Given the description of an element on the screen output the (x, y) to click on. 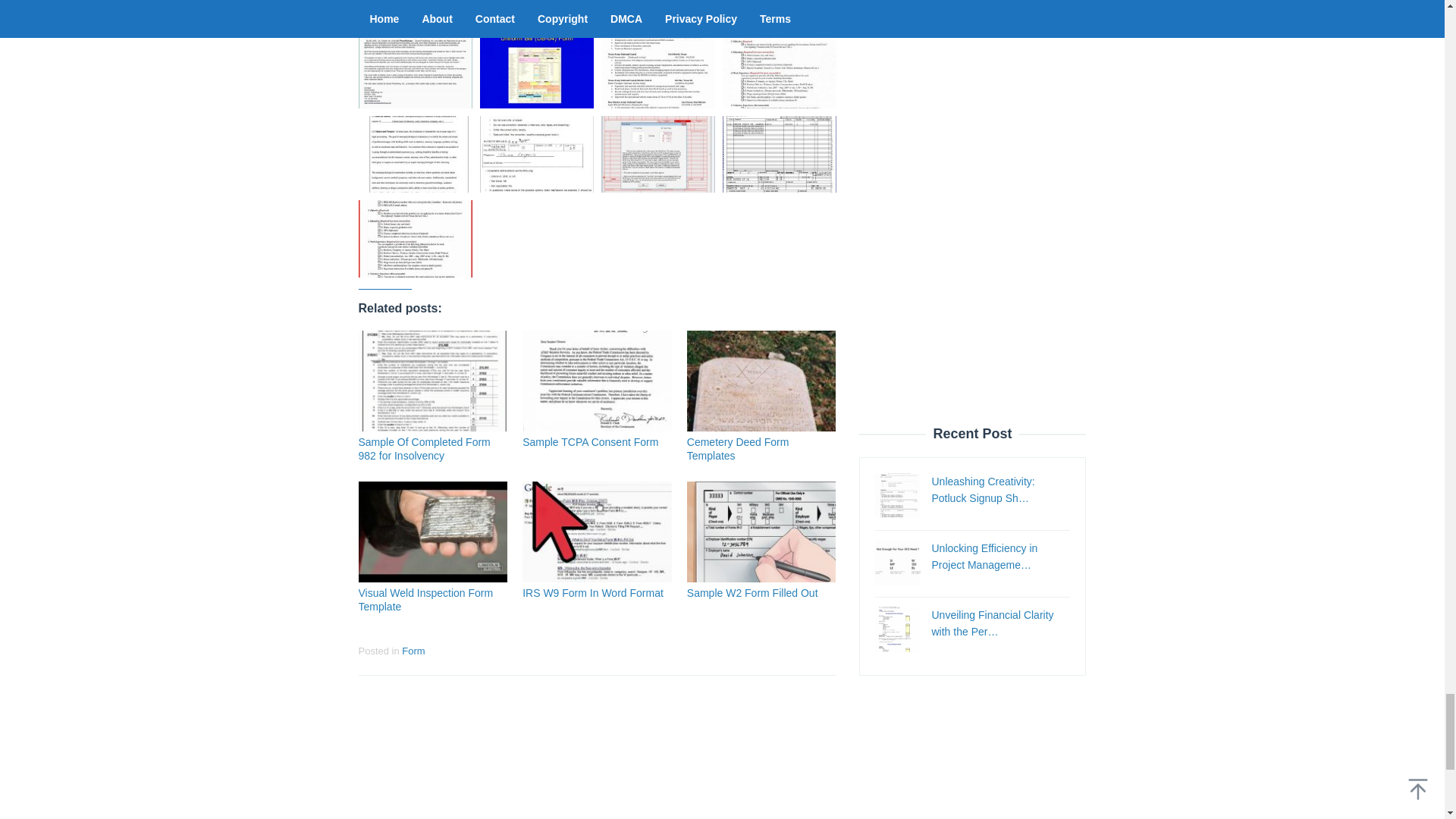
Sample TCPA Consent Form (590, 441)
Sample W2 Form Filled Out (752, 592)
Visual Weld Inspection Form Template (425, 599)
Form (413, 650)
IRS W9 Form In Word Format (592, 592)
Cemetery Deed Form Templates (738, 448)
Sample Of Completed Form 982 for Insolvency (423, 448)
